Given the description of an element on the screen output the (x, y) to click on. 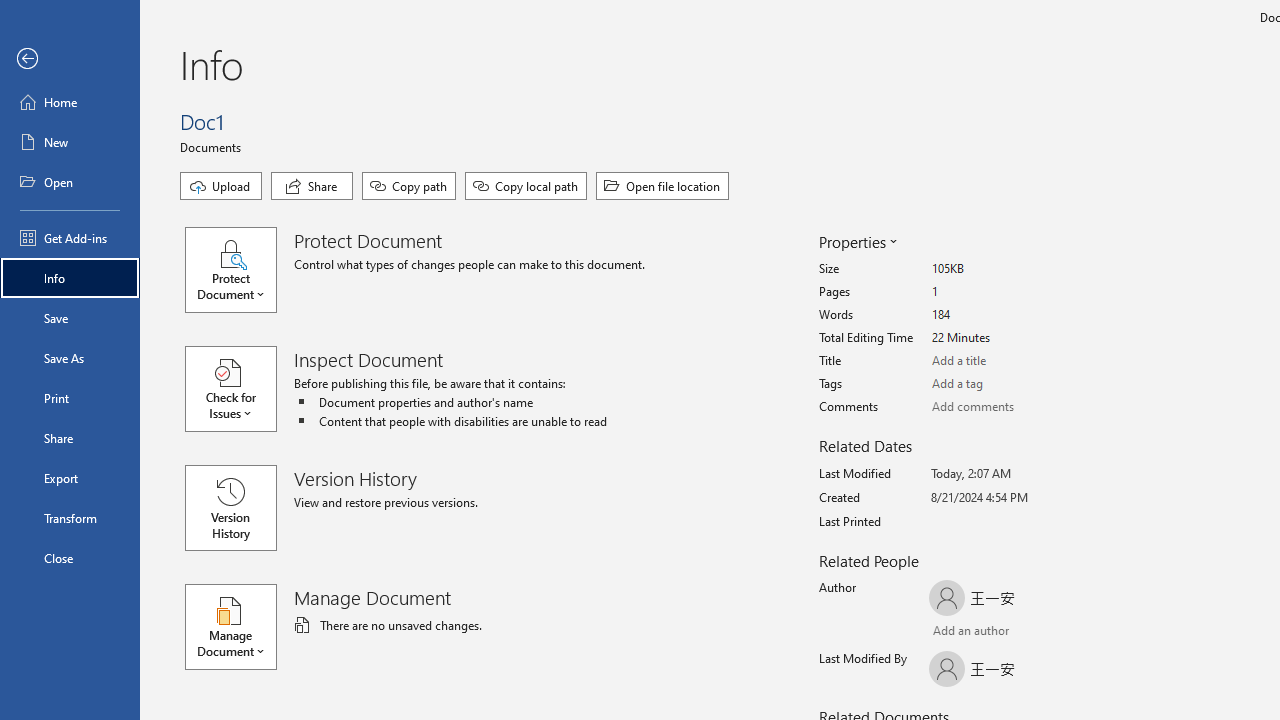
Upload (221, 186)
Tags (1006, 384)
Browse Address Book (1047, 633)
Print (69, 398)
New (69, 141)
Verify Names (983, 632)
Manage Document (239, 626)
Add an author (949, 632)
Copy local path (525, 186)
Open file location (662, 186)
Save As (69, 357)
